Given the description of an element on the screen output the (x, y) to click on. 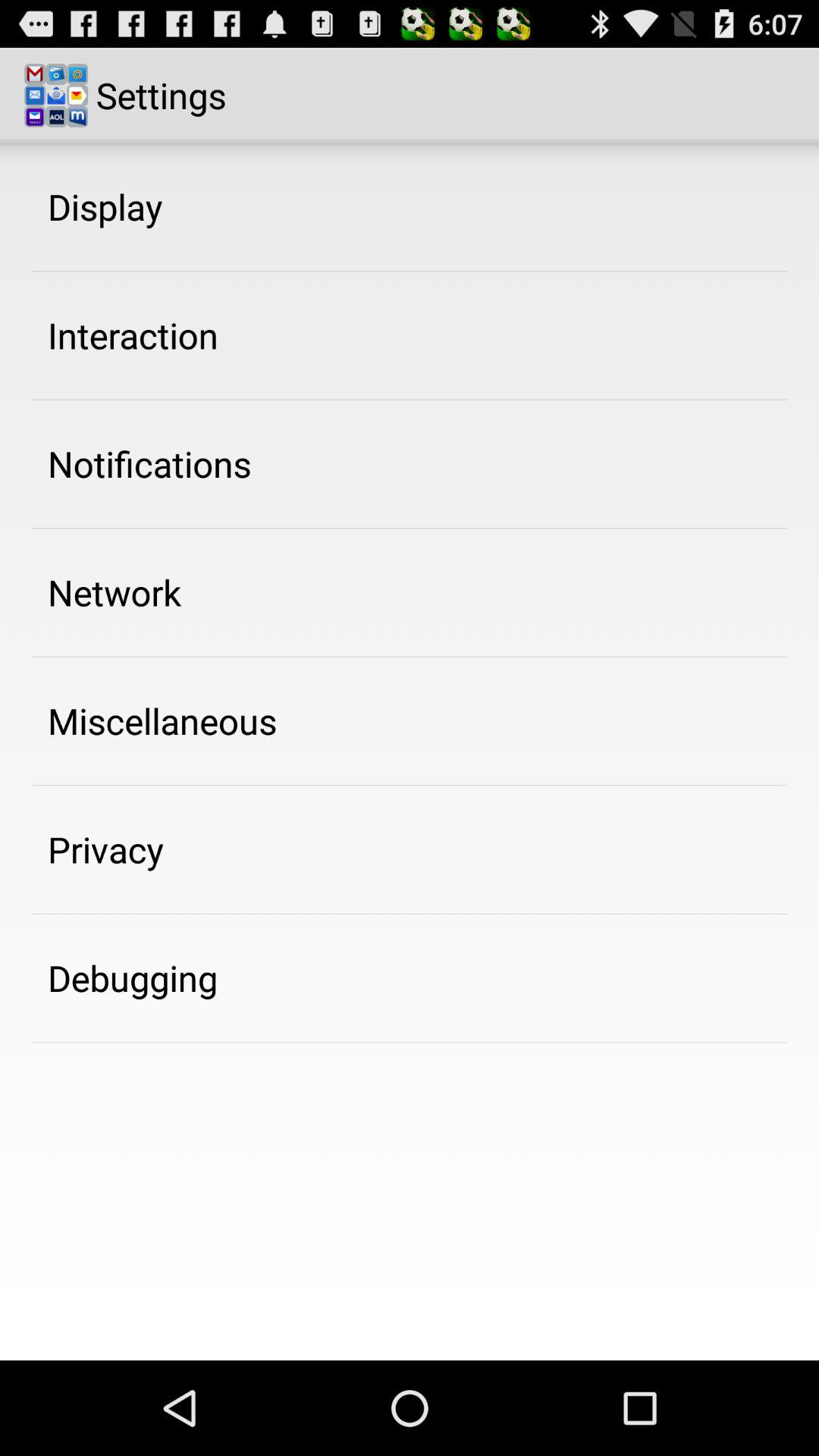
turn on the app below the miscellaneous app (105, 849)
